Given the description of an element on the screen output the (x, y) to click on. 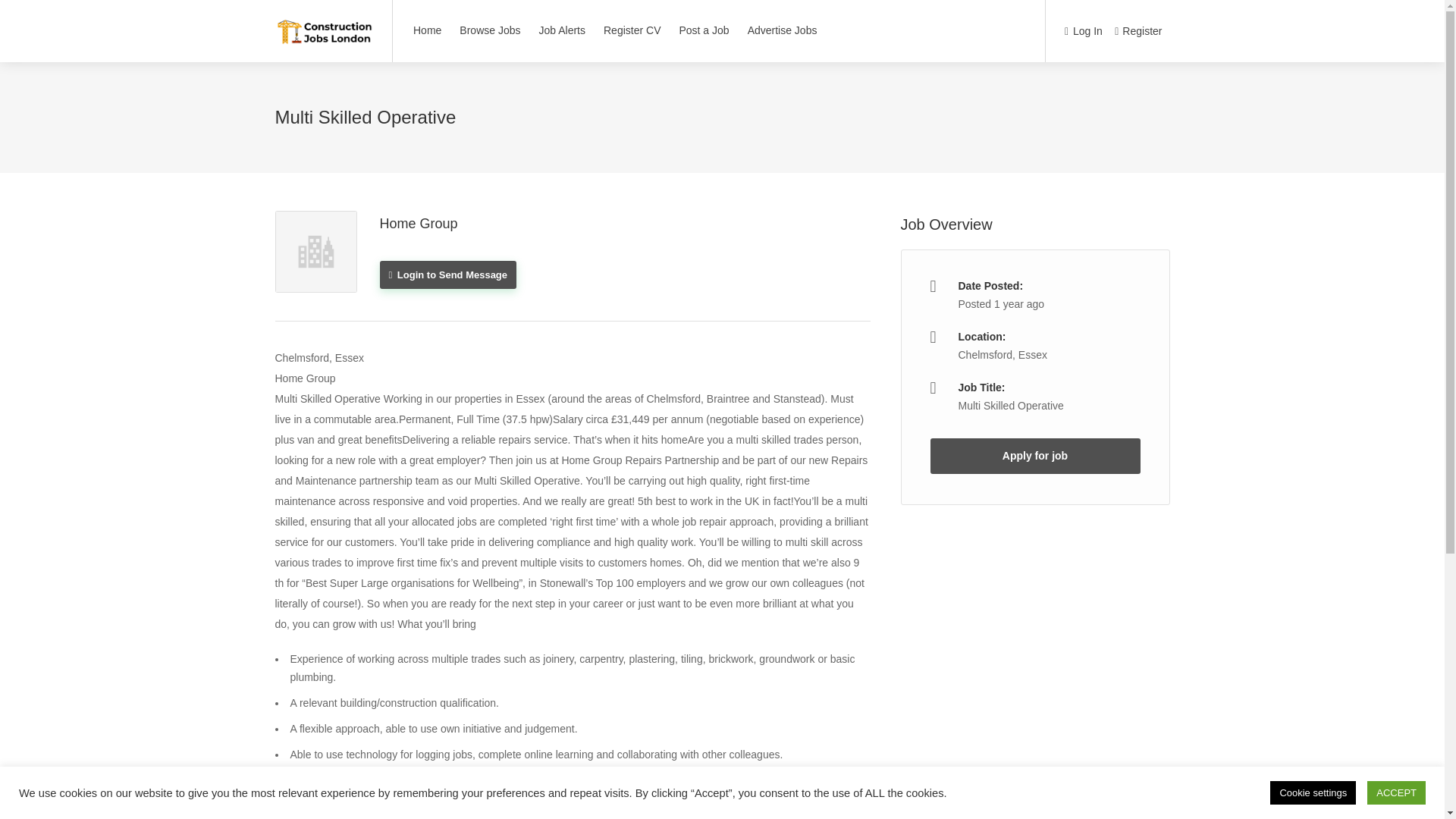
Home Group (417, 223)
Home (426, 30)
Register CV (631, 30)
Chelmsford, Essex (1002, 354)
Apply for job (1035, 456)
Cookie settings (1312, 792)
Job Alerts (562, 30)
Browse Jobs (489, 30)
Log In (1083, 31)
ACCEPT (1396, 792)
